Given the description of an element on the screen output the (x, y) to click on. 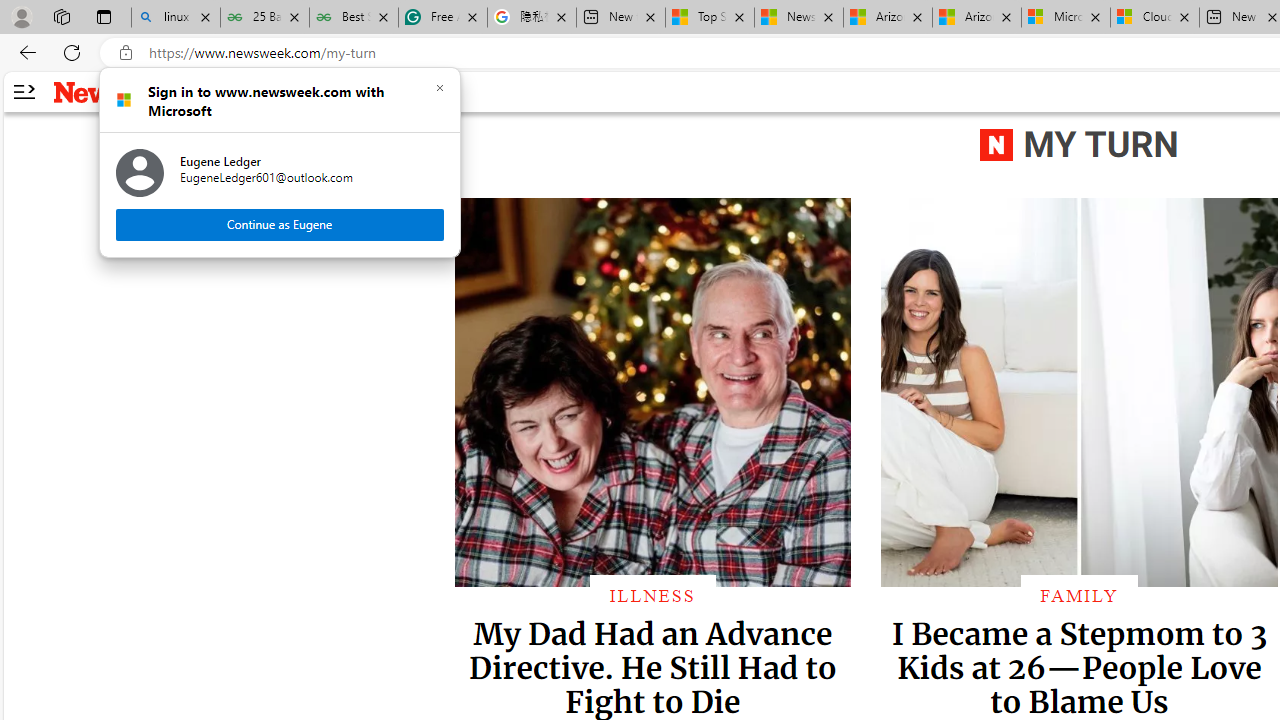
Free AI Writing Assistance for Students | Grammarly (443, 17)
AutomationID: side-arrow (23, 92)
Top Stories - MSN (709, 17)
